Given the description of an element on the screen output the (x, y) to click on. 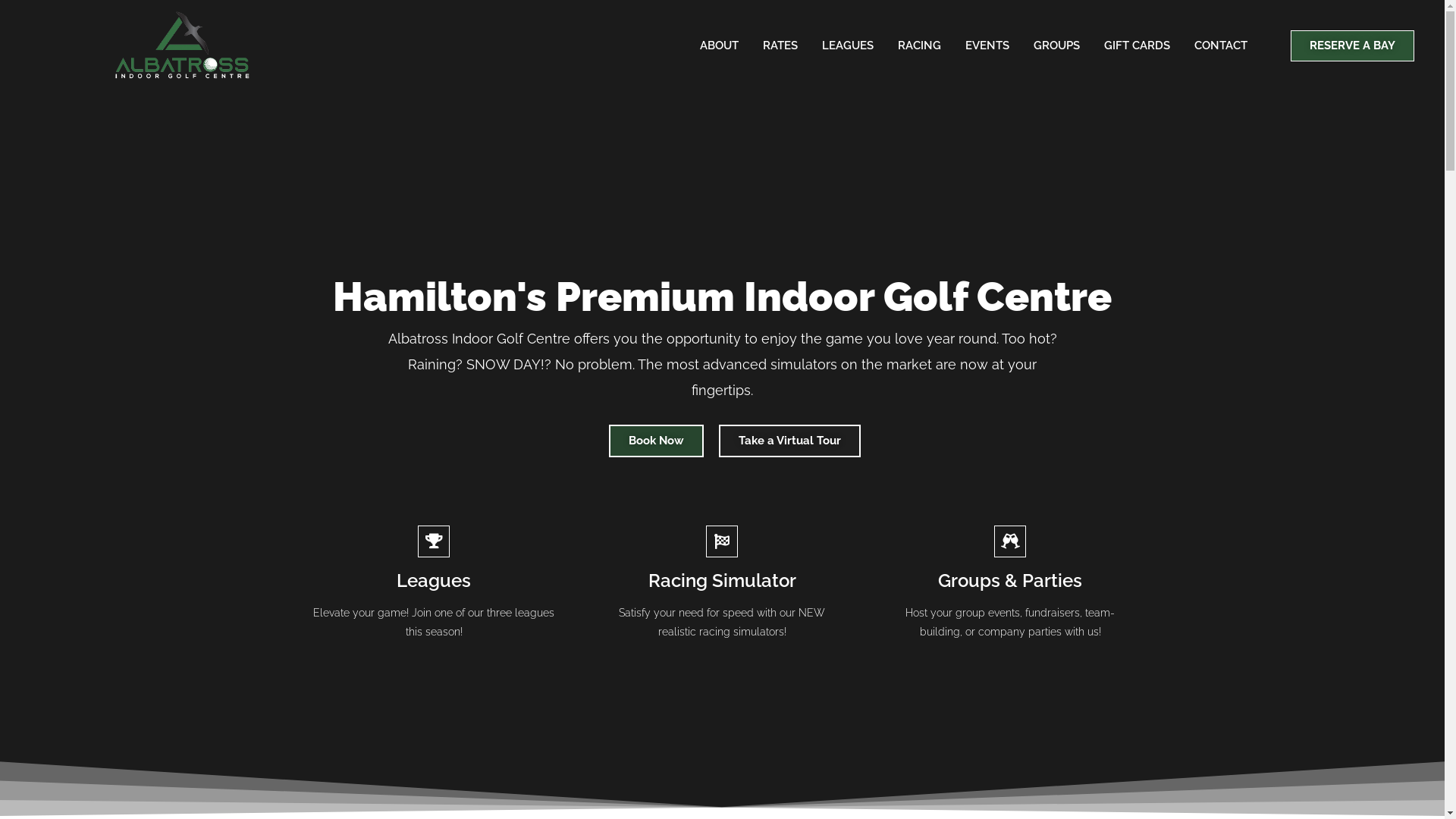
ABOUT Element type: text (719, 45)
Book Now Element type: text (655, 440)
CONTACT Element type: text (1220, 45)
Take a Virtual Tour Element type: text (789, 440)
RATES Element type: text (780, 45)
EVENTS Element type: text (986, 45)
Leagues Element type: text (433, 580)
GROUPS Element type: text (1056, 45)
Groups & Parties Element type: text (1010, 580)
GIFT CARDS Element type: text (1136, 45)
RESERVE A BAY Element type: text (1352, 45)
LEAGUES Element type: text (847, 45)
Racing Simulator Element type: text (722, 580)
RACING Element type: text (919, 45)
